Given the description of an element on the screen output the (x, y) to click on. 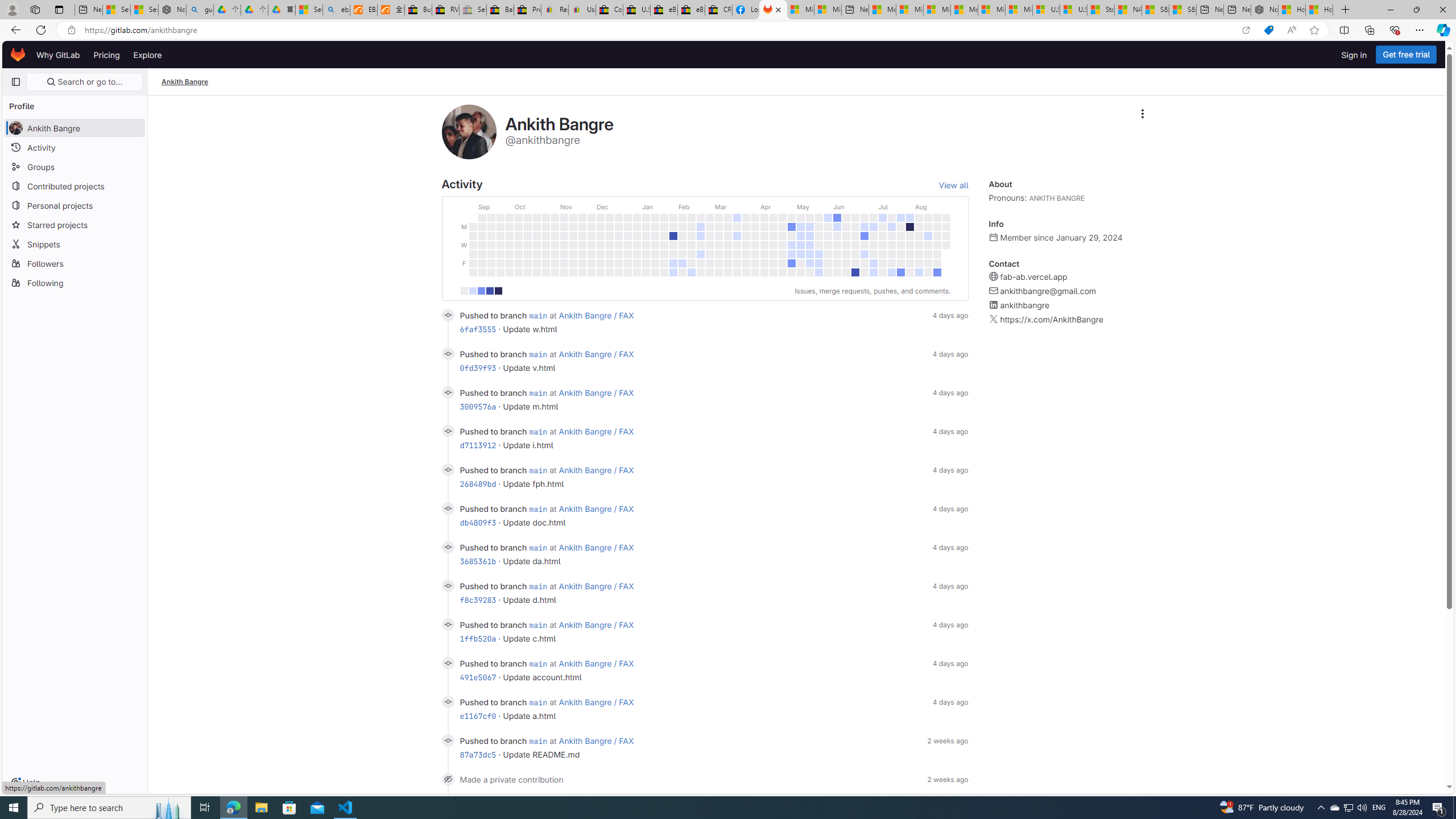
Personal projects (74, 205)
87a73dc5 (478, 754)
Buy Auto Parts & Accessories | eBay (418, 9)
